Given the description of an element on the screen output the (x, y) to click on. 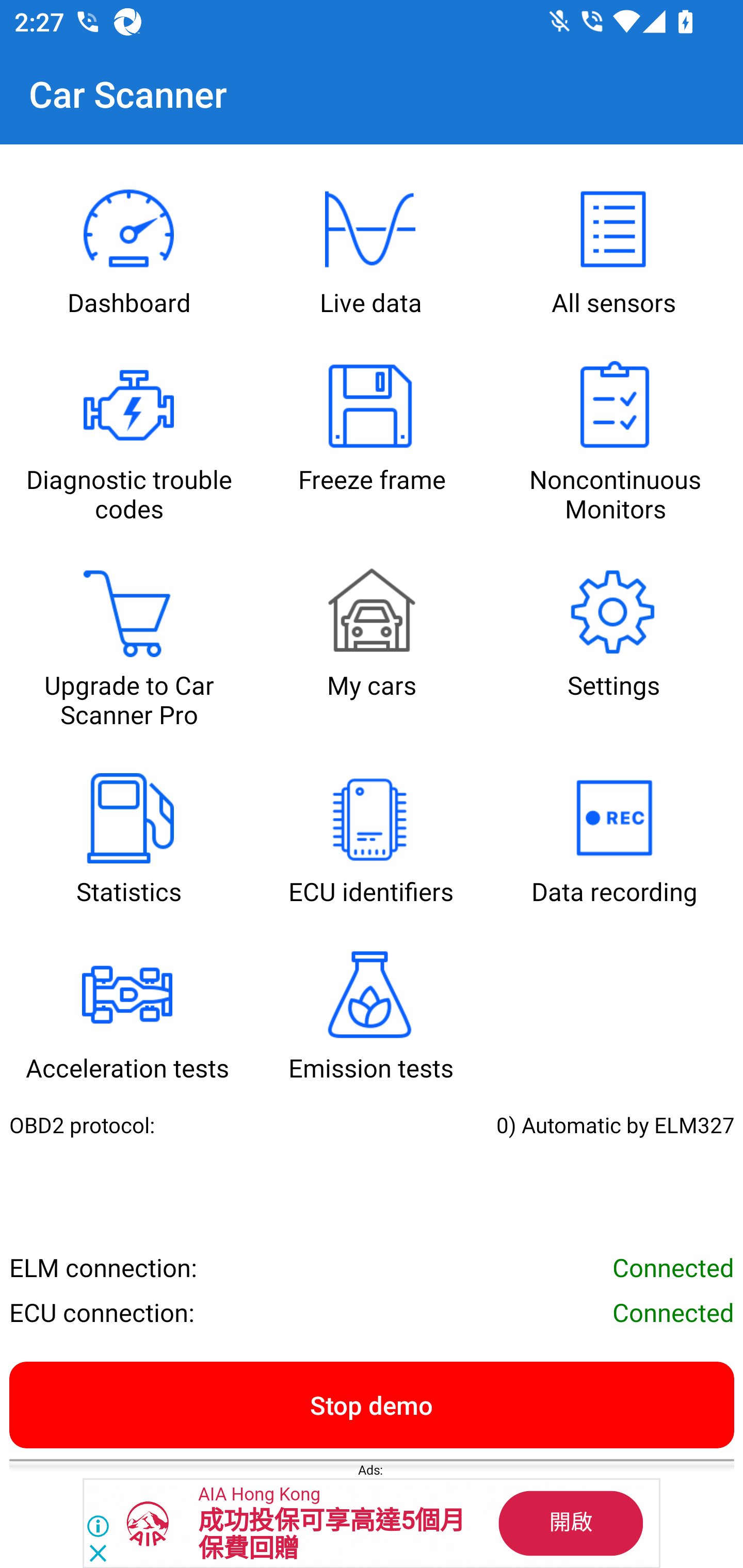
Stop demo (371, 1404)
